Given the description of an element on the screen output the (x, y) to click on. 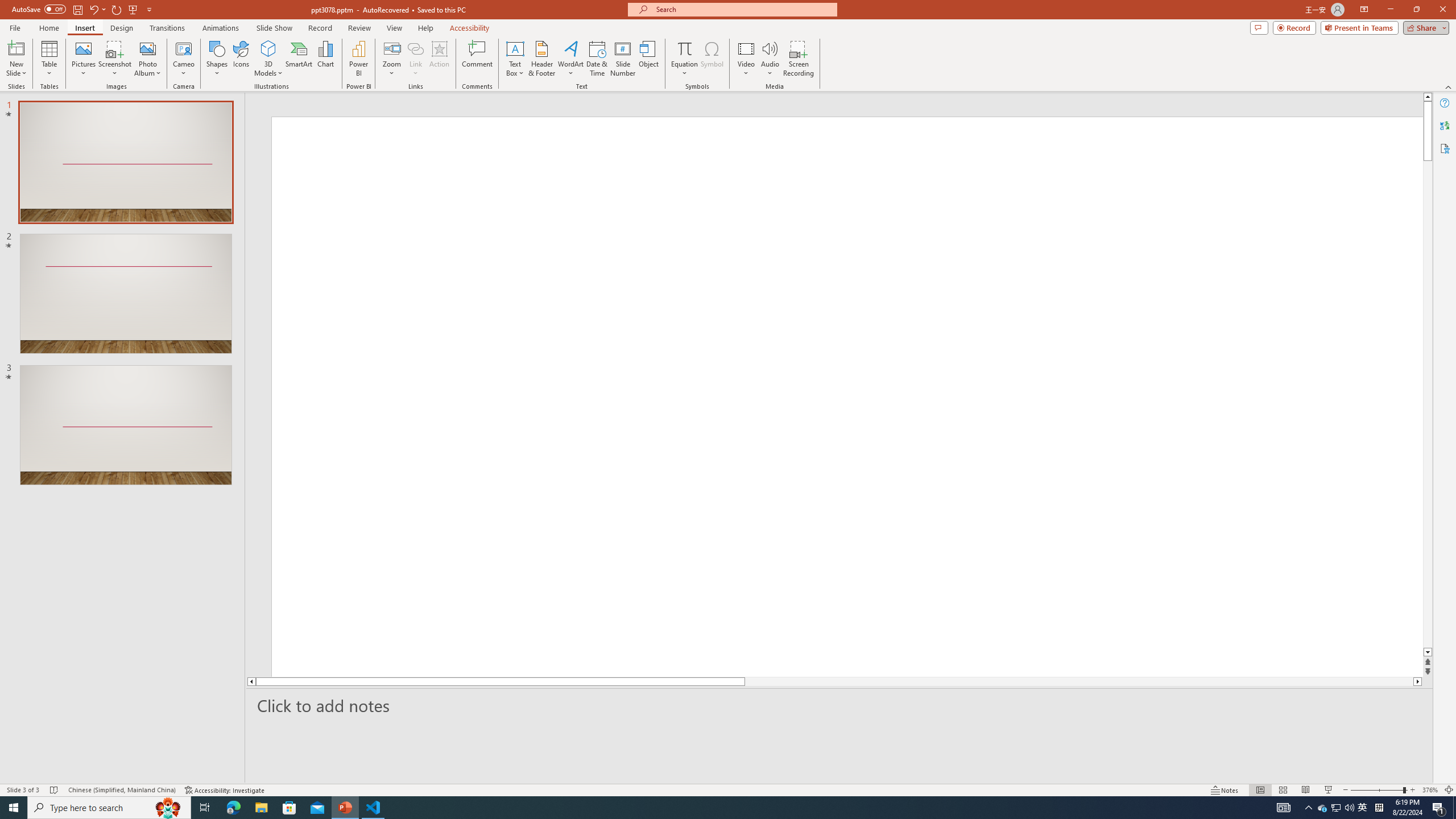
Icons (240, 58)
Action (439, 58)
Video (745, 58)
Draw Horizontal Text Box (515, 48)
